Given the description of an element on the screen output the (x, y) to click on. 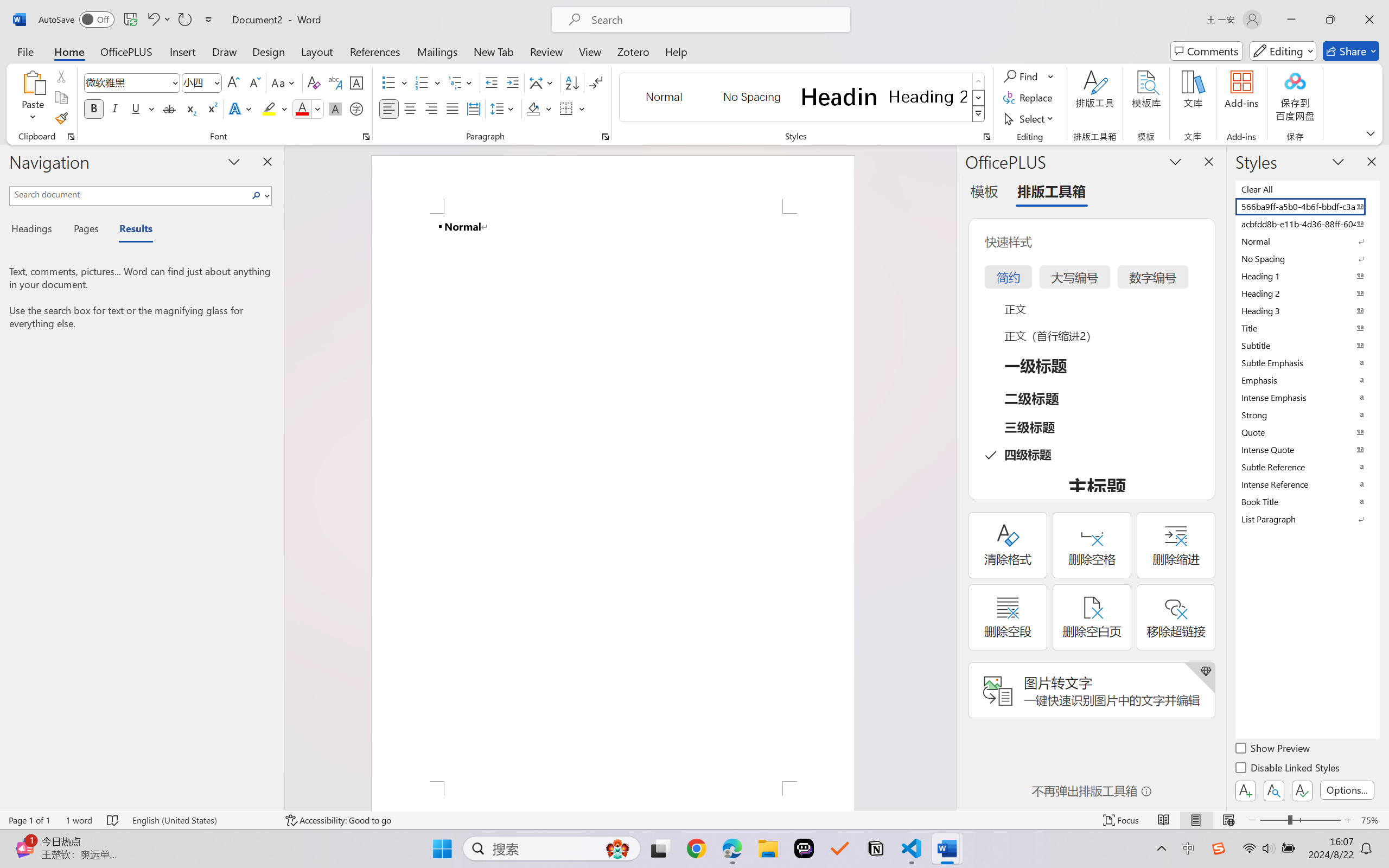
Microsoft search (715, 19)
Page Number Page 1 of 1 (29, 819)
Numbering (421, 82)
Bullets (395, 82)
Ribbon Display Options (1370, 132)
Multilevel List (461, 82)
Pages (85, 229)
More Options (1051, 75)
Find (1029, 75)
Borders (566, 108)
Mailings (437, 51)
